Given the description of an element on the screen output the (x, y) to click on. 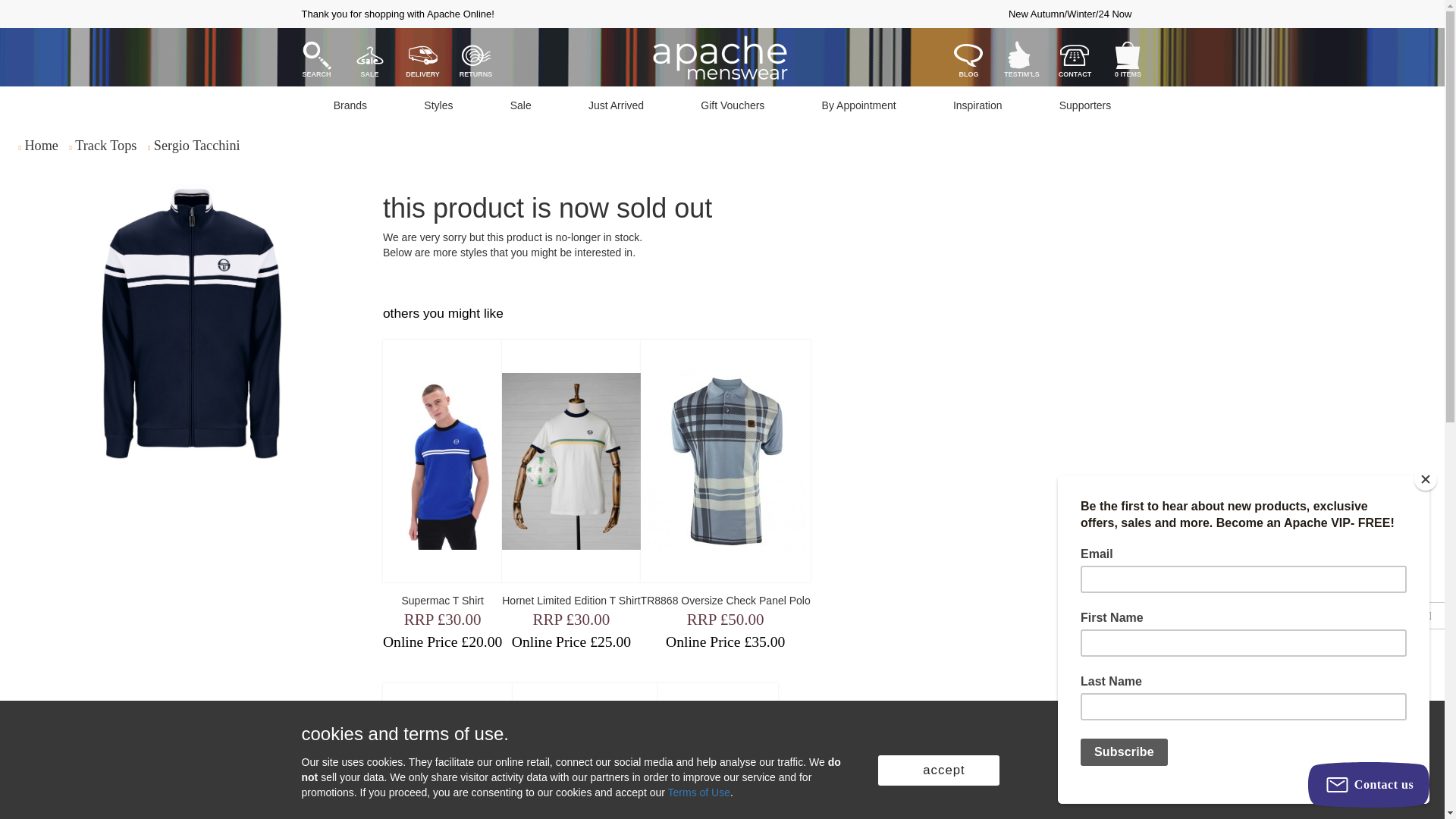
View what's new (616, 105)
Buy gift vouchers (732, 105)
Brands (350, 105)
Search (316, 55)
Thank you! (1085, 105)
Home page (41, 145)
View Track Tops (105, 145)
Make an appointment to shop at our store (858, 105)
Get some style inspiration (977, 105)
Shop our sale products (520, 105)
Blog (968, 55)
Apacheonline Menswear (720, 61)
Sale (370, 55)
